Given the description of an element on the screen output the (x, y) to click on. 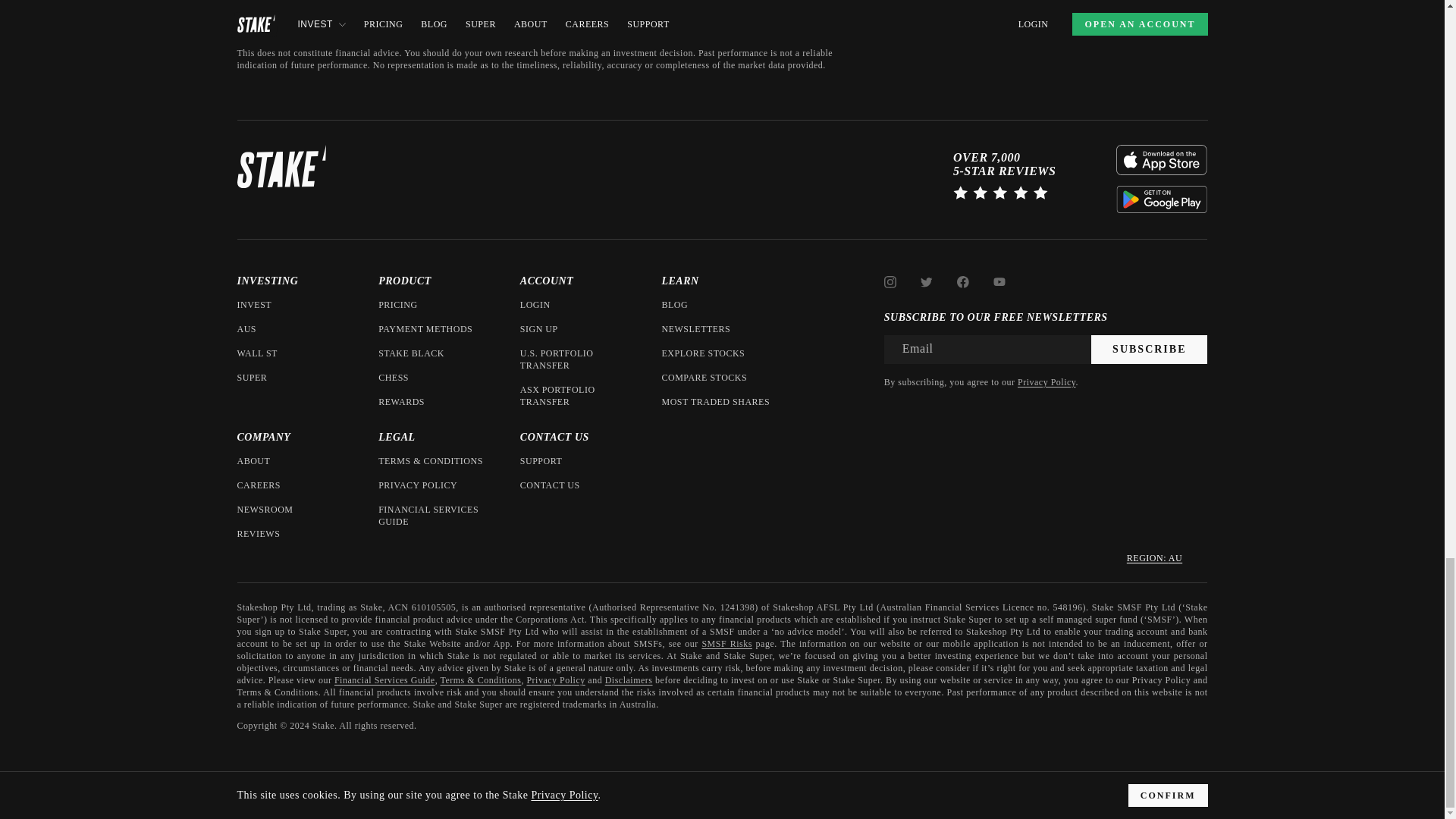
REWARDS (401, 401)
PAYMENT METHODS (424, 328)
STAKE BLACK (411, 353)
SUPER (250, 377)
PRICING (397, 304)
WALL ST (255, 353)
INVEST (252, 304)
AUS (245, 328)
CHESS (393, 377)
